Given the description of an element on the screen output the (x, y) to click on. 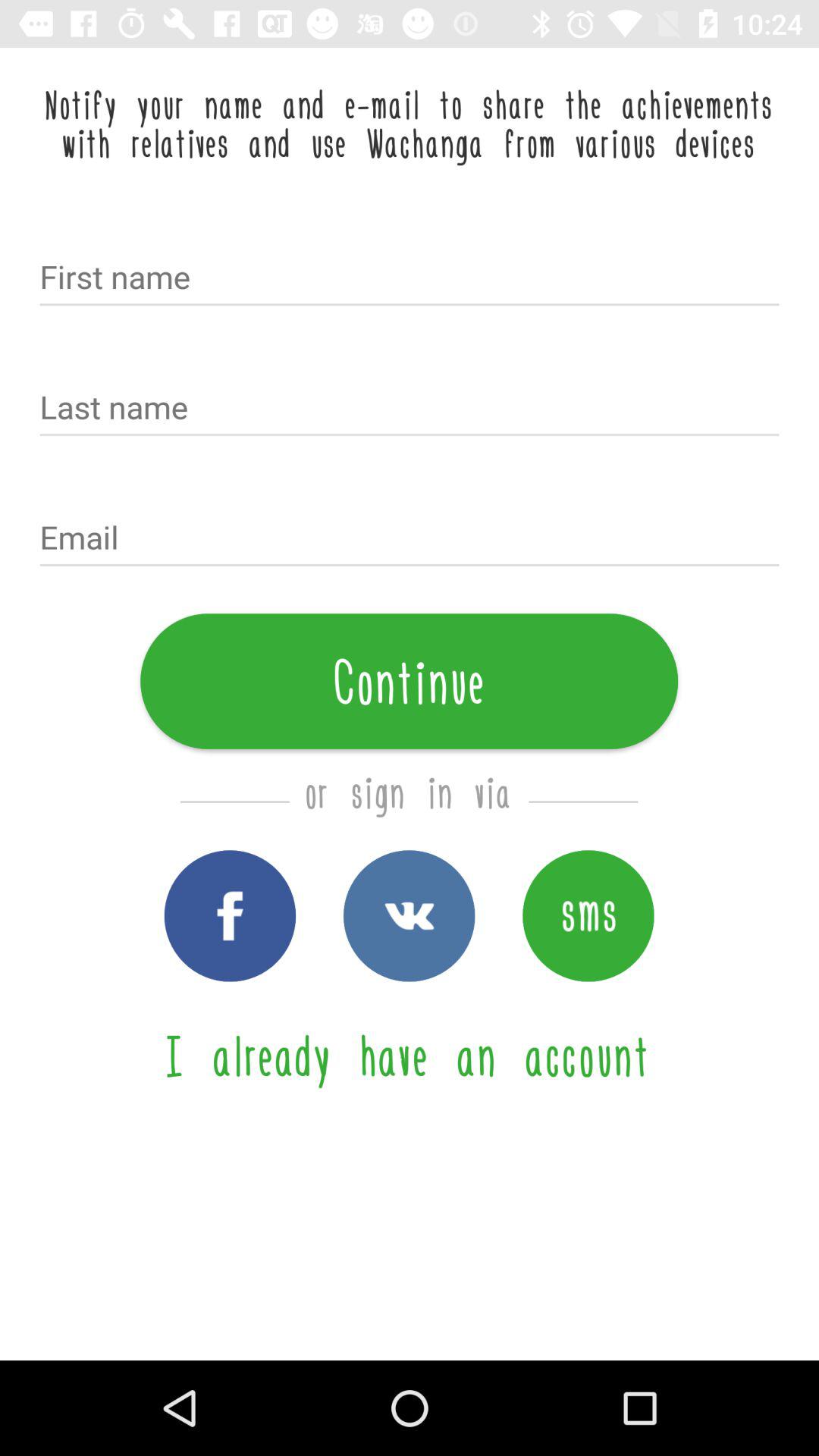
flip until continue icon (408, 681)
